Given the description of an element on the screen output the (x, y) to click on. 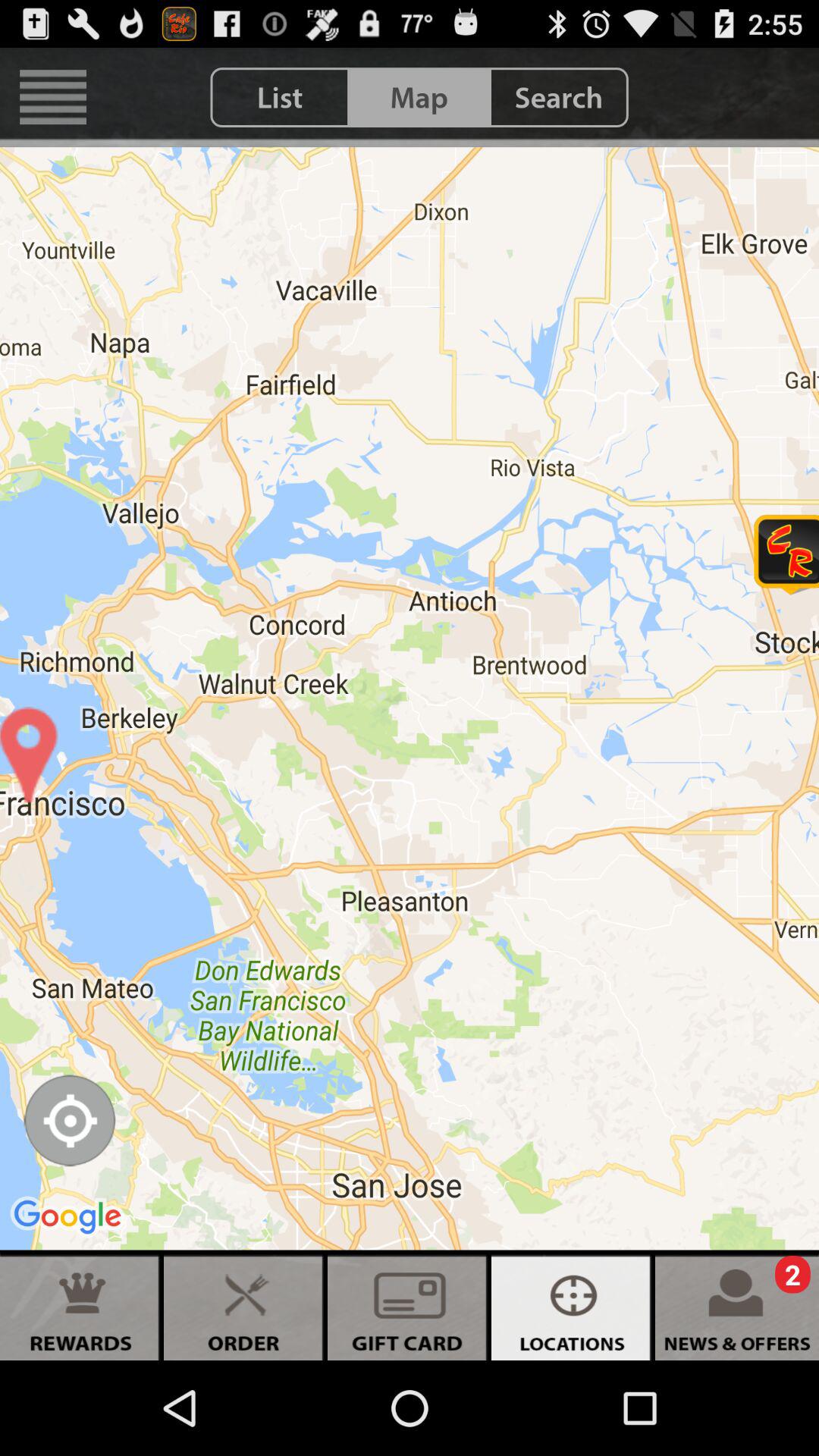
press item at the top right corner (558, 97)
